Given the description of an element on the screen output the (x, y) to click on. 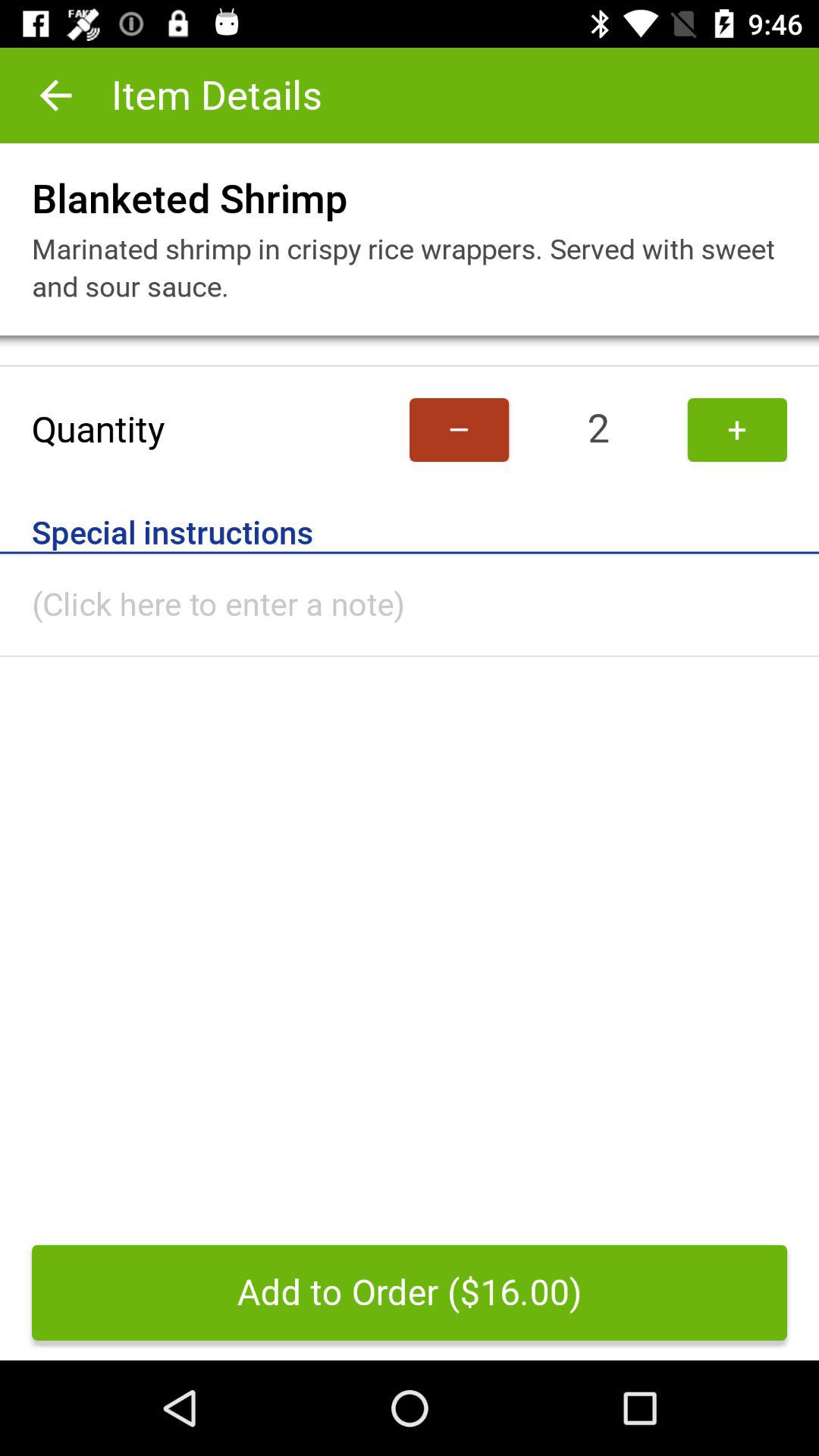
click item next to 2 item (737, 429)
